Given the description of an element on the screen output the (x, y) to click on. 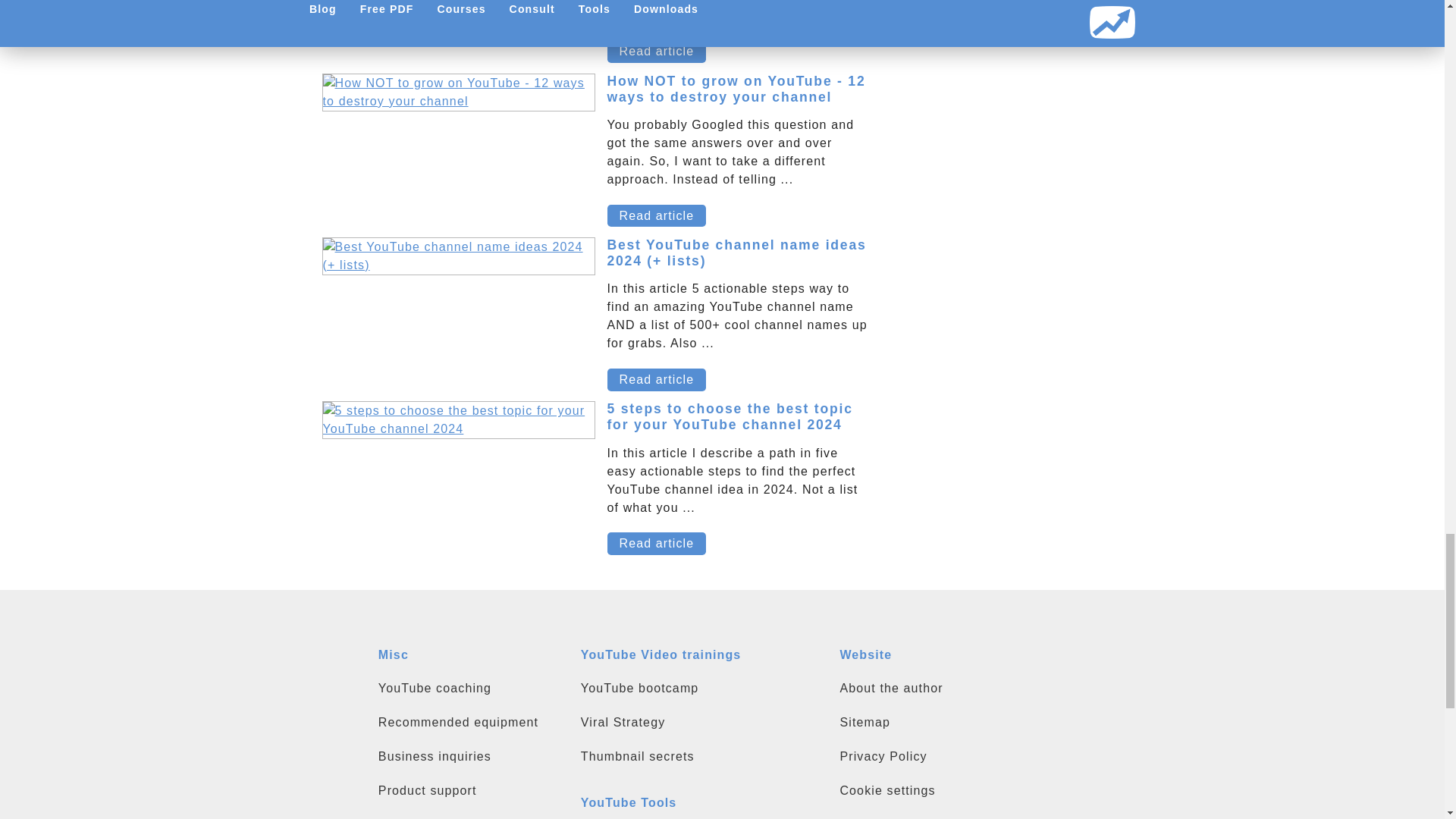
Overview of this site (952, 722)
Cookie settings (952, 791)
About the author (952, 689)
How NOT to grow on YouTube - 12 ways to destroy your channel (735, 88)
Book: claim your free bonus (471, 816)
YouTube coaching (471, 689)
Terms and Conditions (952, 816)
Support (471, 791)
Privacy Policy (952, 757)
Read article (656, 215)
Contact (471, 757)
Recommended YouTube equipment (471, 722)
Read article (656, 51)
Read article (656, 543)
